Given the description of an element on the screen output the (x, y) to click on. 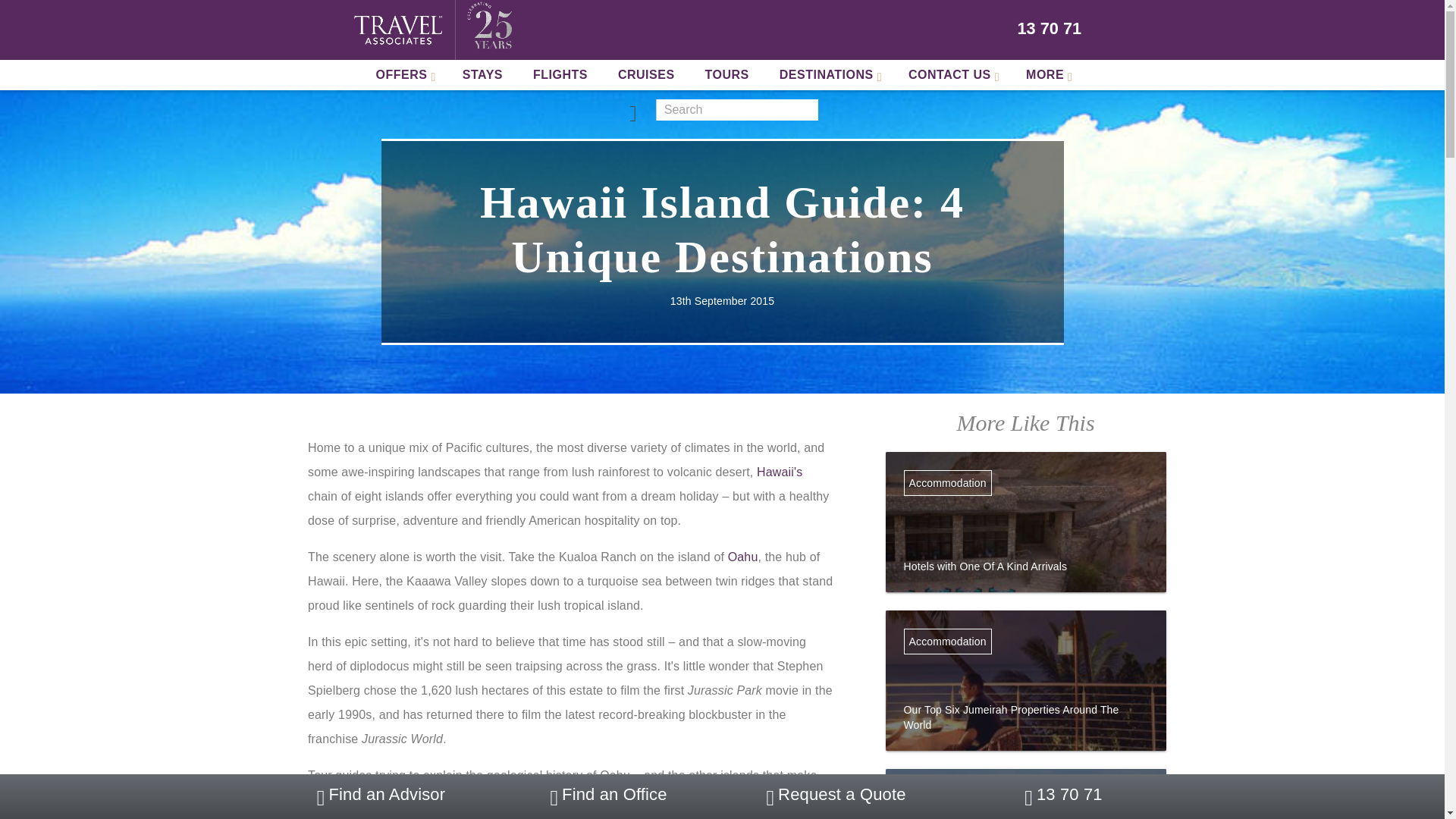
13 70 71 (1050, 28)
MORE (1046, 74)
CONTACT US (951, 74)
TOURS (727, 74)
CRUISES (646, 74)
DESTINATIONS (828, 74)
OFFERS (403, 74)
STAYS (482, 74)
FLIGHTS (560, 74)
